Given the description of an element on the screen output the (x, y) to click on. 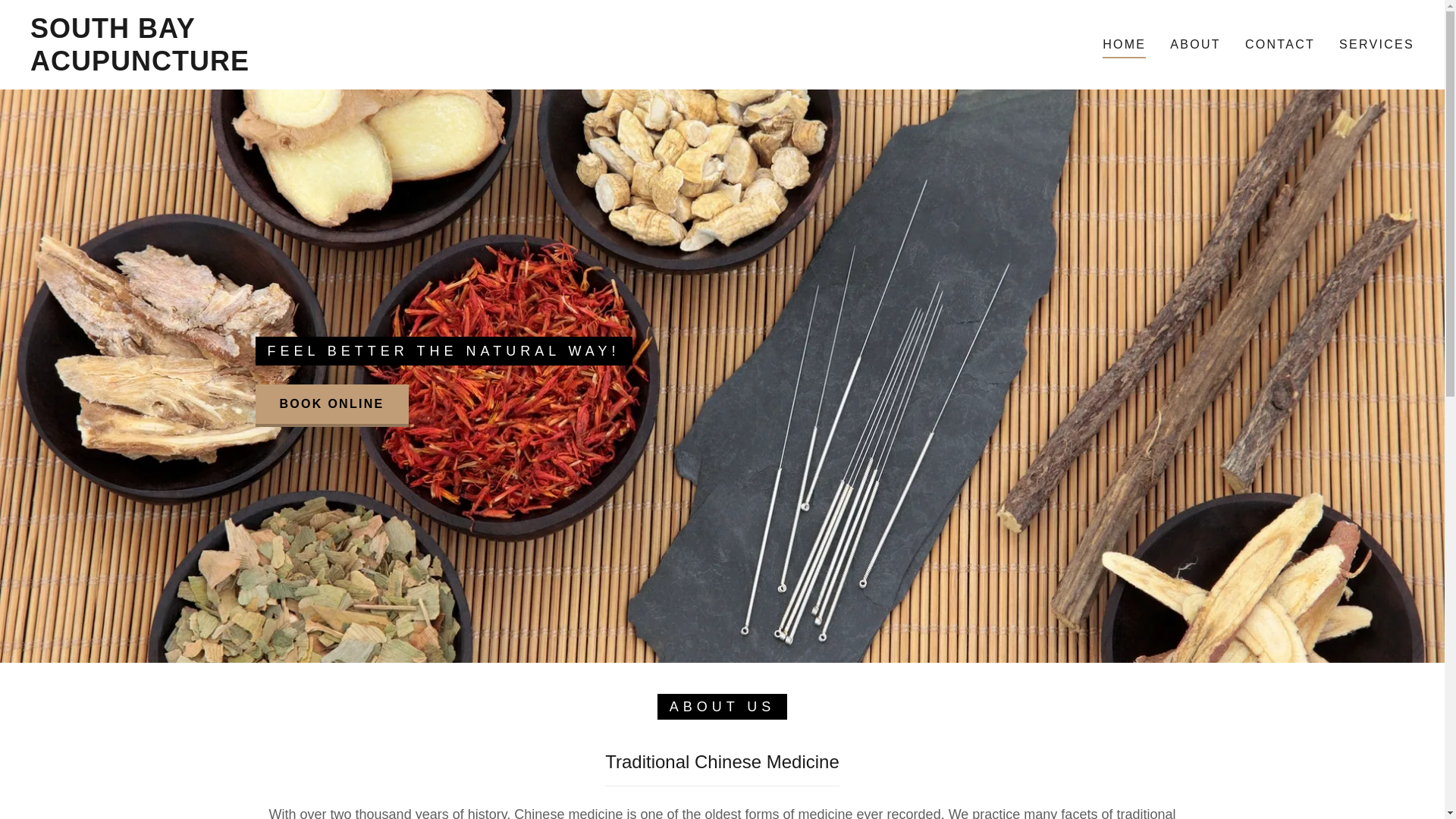
HOME (1123, 47)
SERVICES (1376, 44)
BOOK ONLINE (330, 405)
ABOUT (1195, 44)
SOUTH BAY ACUPUNCTURE (226, 65)
CONTACT (1279, 44)
South Bay Acupuncture (226, 65)
